Given the description of an element on the screen output the (x, y) to click on. 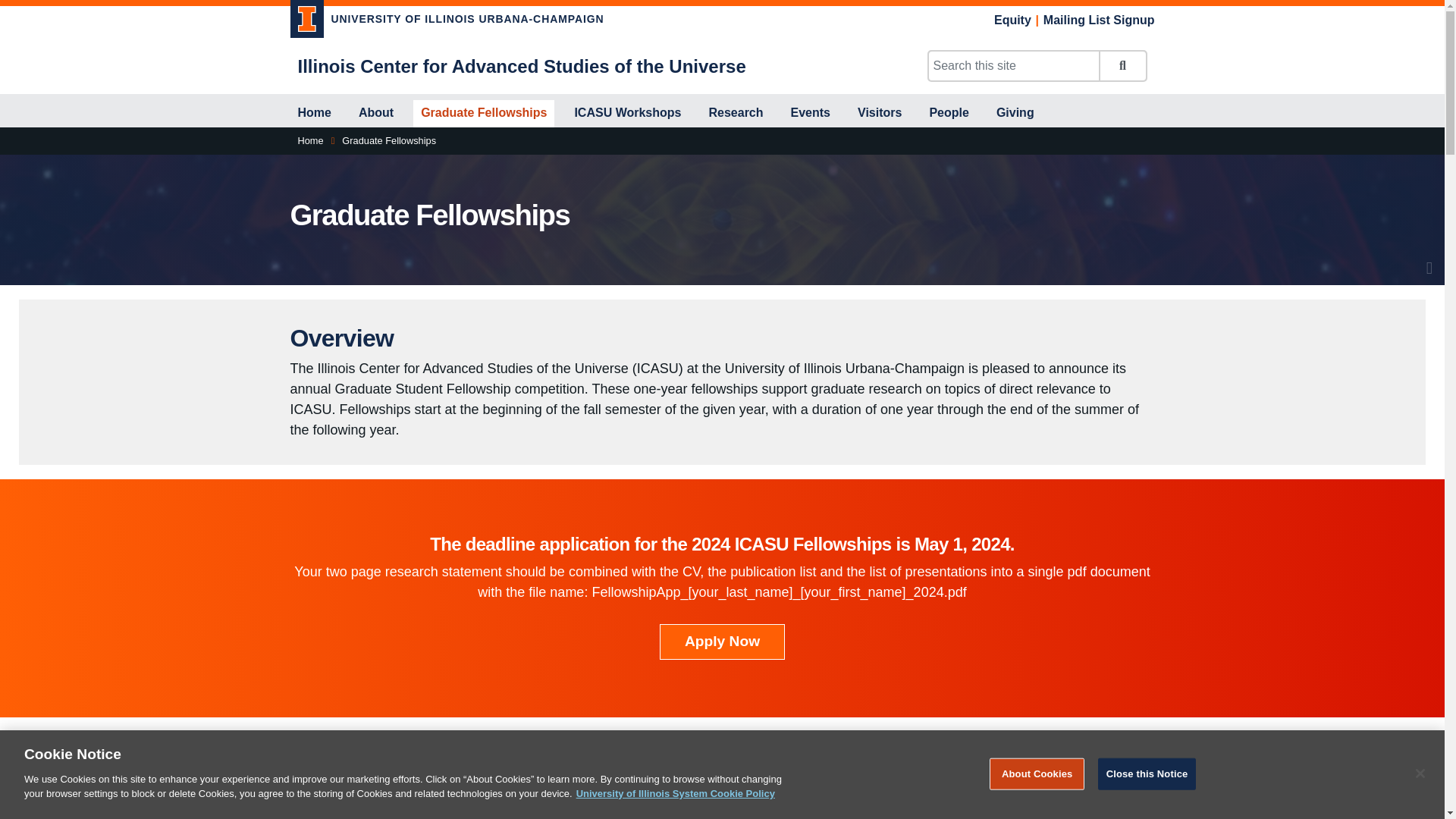
Home (310, 140)
Home (313, 113)
Giving (1015, 113)
ICASU Workshops (627, 113)
Apply Now (721, 642)
People (948, 113)
Research (735, 113)
Mailing List Signup (1098, 19)
Visitors (879, 113)
Illinois Center for Advanced Studies of the Universe (521, 66)
